Given the description of an element on the screen output the (x, y) to click on. 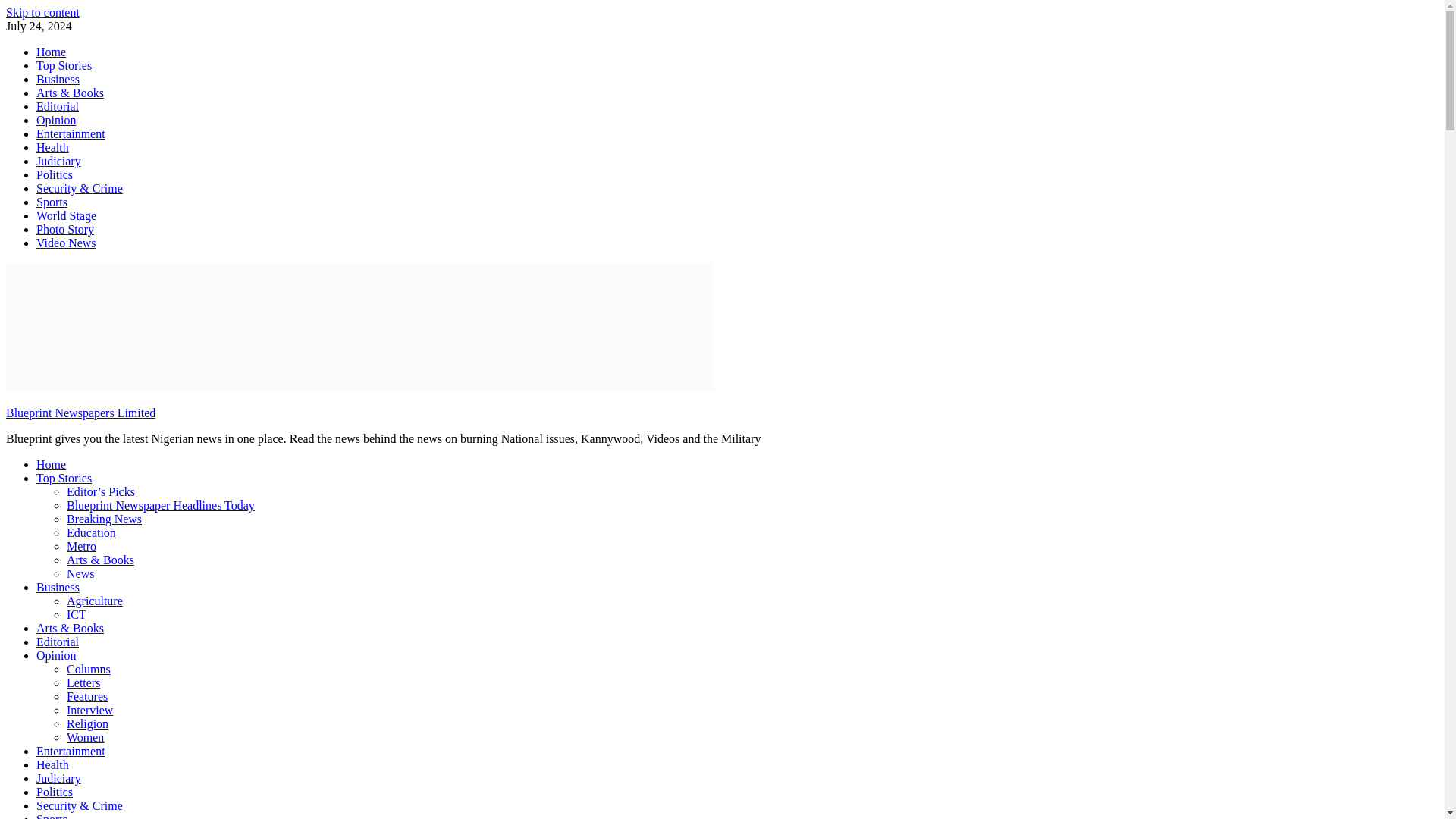
Opinion (55, 119)
Video News (66, 242)
News (80, 573)
Breaking News (103, 518)
Metro (81, 545)
Agriculture (94, 600)
Politics (54, 174)
World Stage (66, 215)
Editorial (57, 641)
Top Stories (63, 65)
Home (50, 51)
Features (86, 696)
Education (91, 532)
Blueprint Newspaper Headlines Today (160, 504)
Judiciary (58, 160)
